Given the description of an element on the screen output the (x, y) to click on. 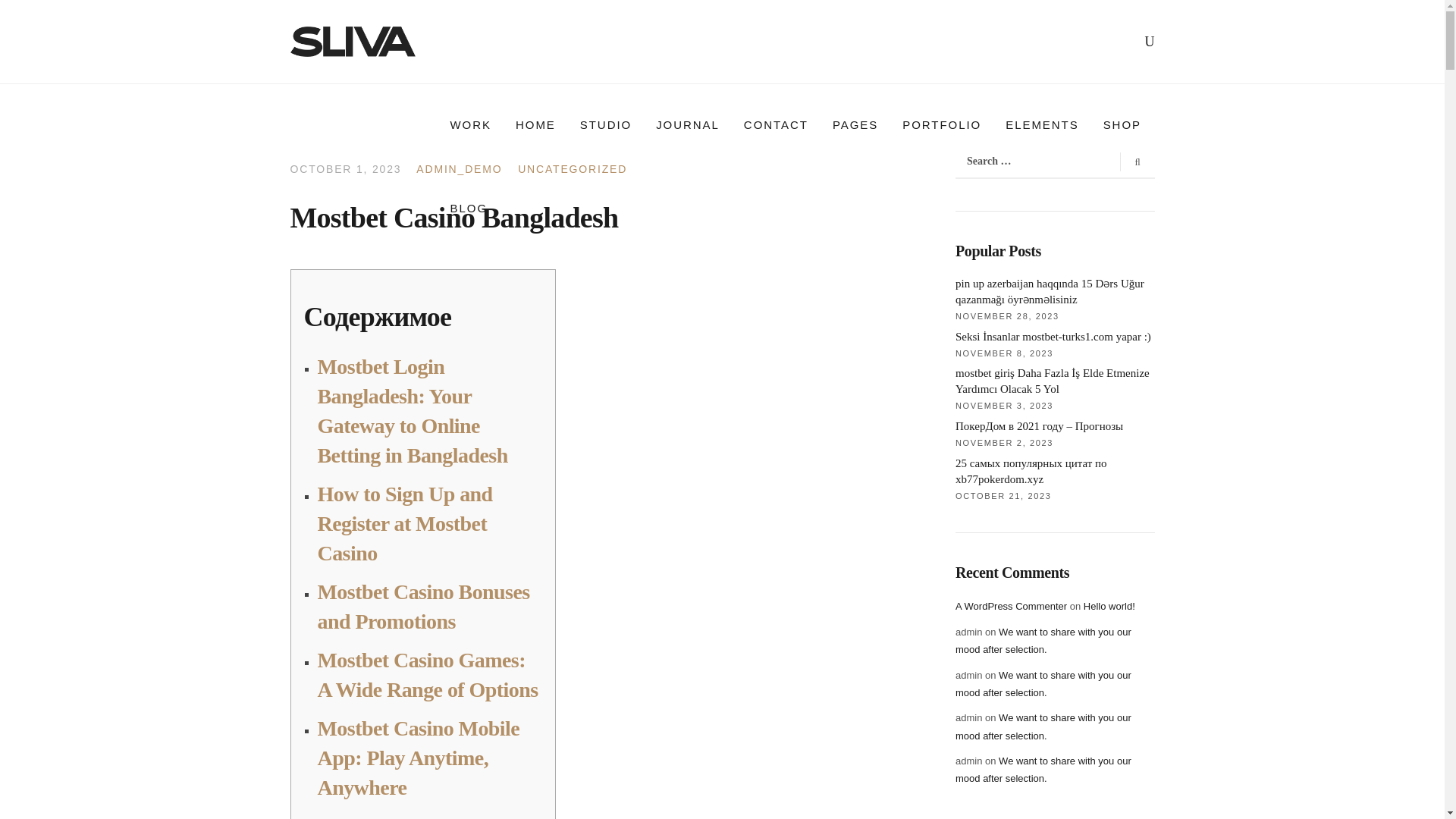
CONTACT (776, 125)
JOURNAL (687, 125)
STUDIO (605, 125)
PORTFOLIO (940, 125)
